Given the description of an element on the screen output the (x, y) to click on. 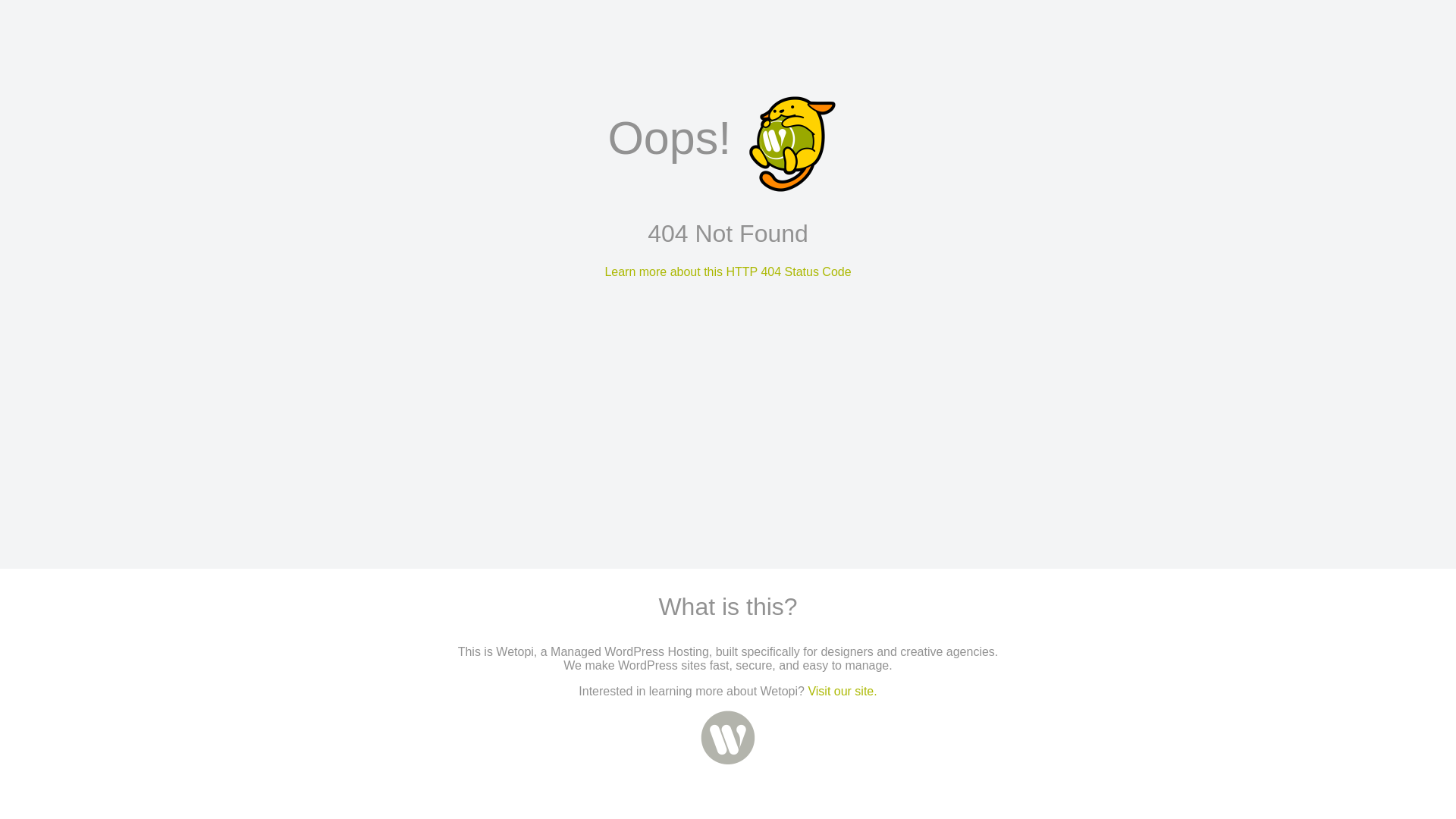
Visit our site. Element type: text (841, 690)
Learn more about this HTTP 404 Status Code Element type: text (727, 271)
